Given the description of an element on the screen output the (x, y) to click on. 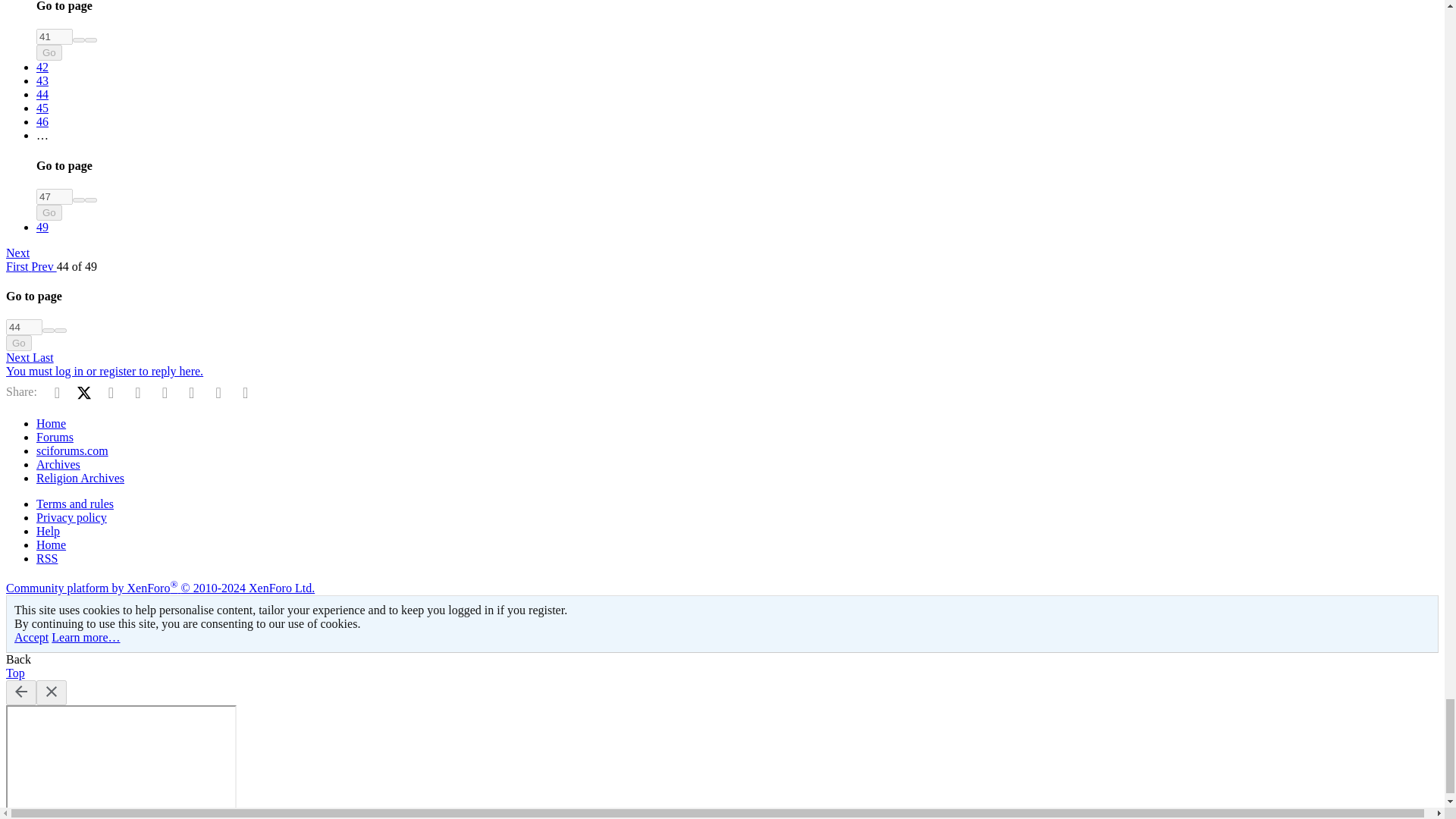
47 (54, 196)
Top (14, 672)
44 (23, 326)
Back (17, 658)
41 (54, 36)
